Given the description of an element on the screen output the (x, y) to click on. 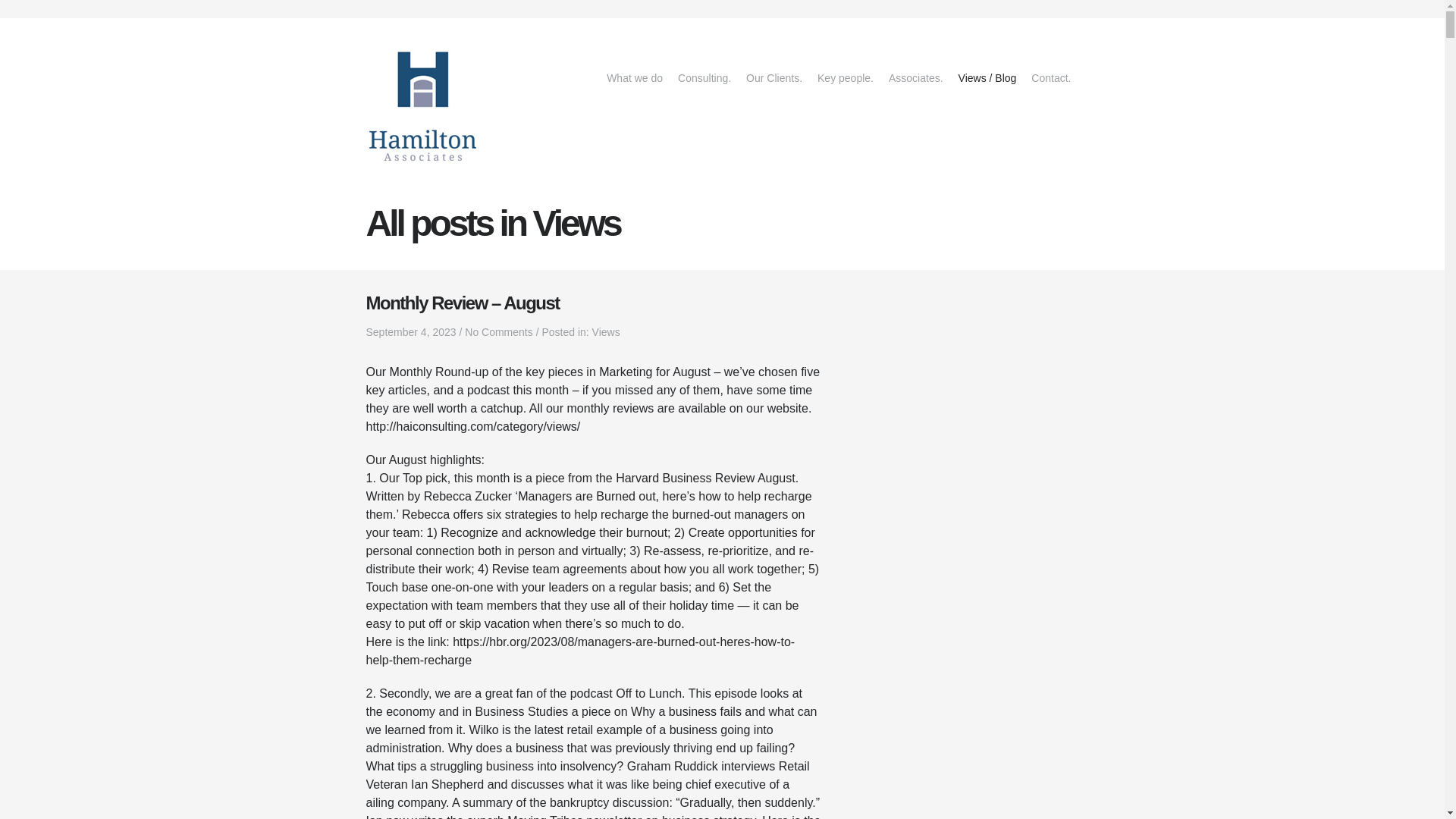
View all posts in Views (606, 331)
What we do (633, 77)
Views (987, 77)
Key people. (844, 77)
No Comments (498, 331)
Our Clients. (773, 77)
Views (606, 331)
Contact. (1050, 77)
Associates. (915, 77)
Consulting. (703, 77)
